Given the description of an element on the screen output the (x, y) to click on. 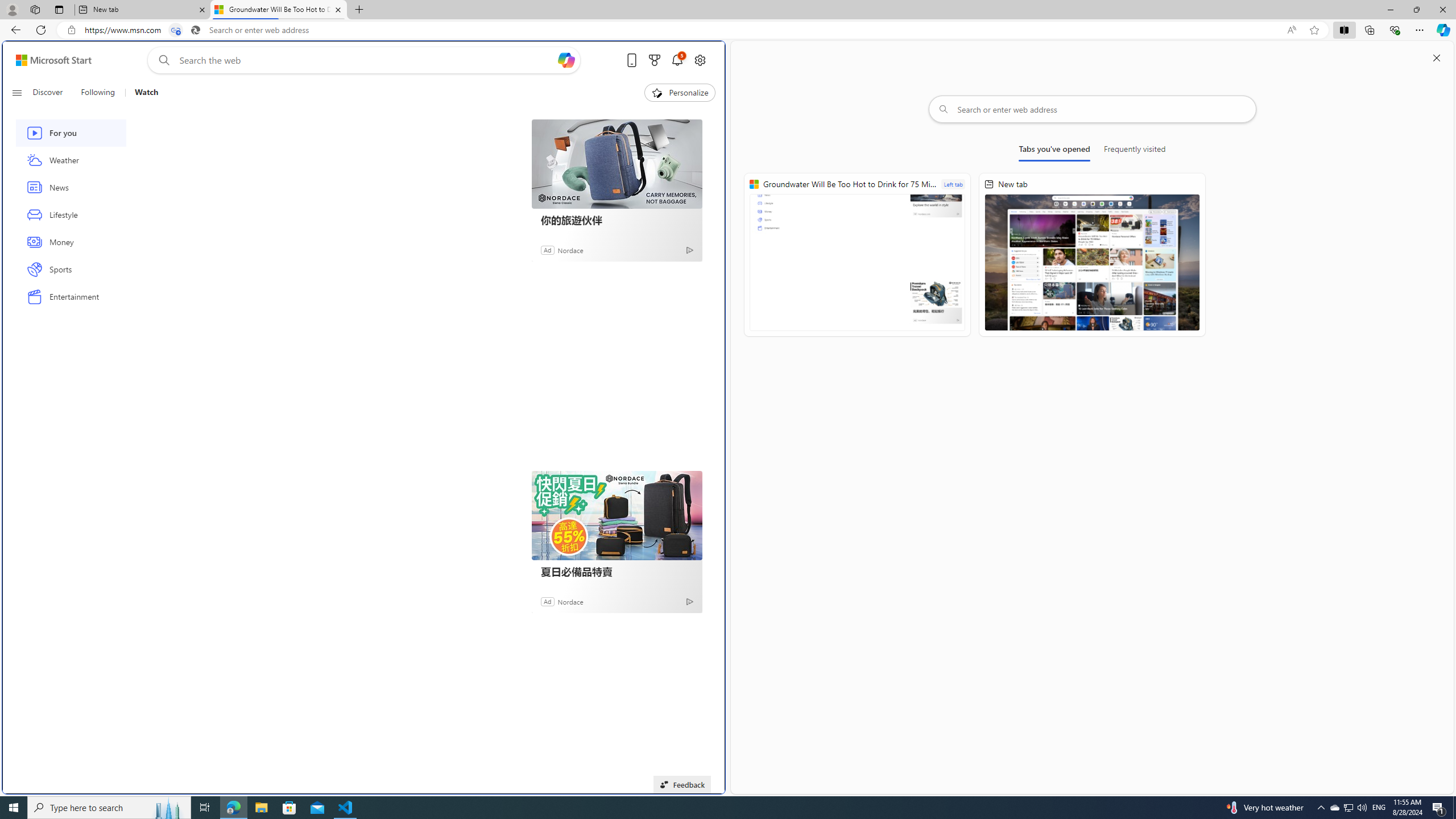
To get missing image descriptions, open the context menu. (656, 92)
Open settings (699, 60)
